Given the description of an element on the screen output the (x, y) to click on. 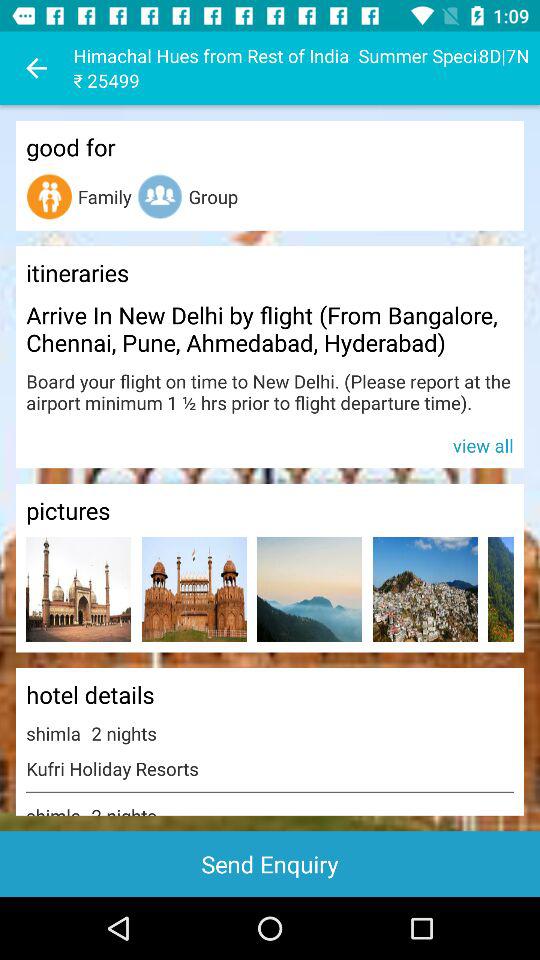
press the item below the pictures item (309, 588)
